Given the description of an element on the screen output the (x, y) to click on. 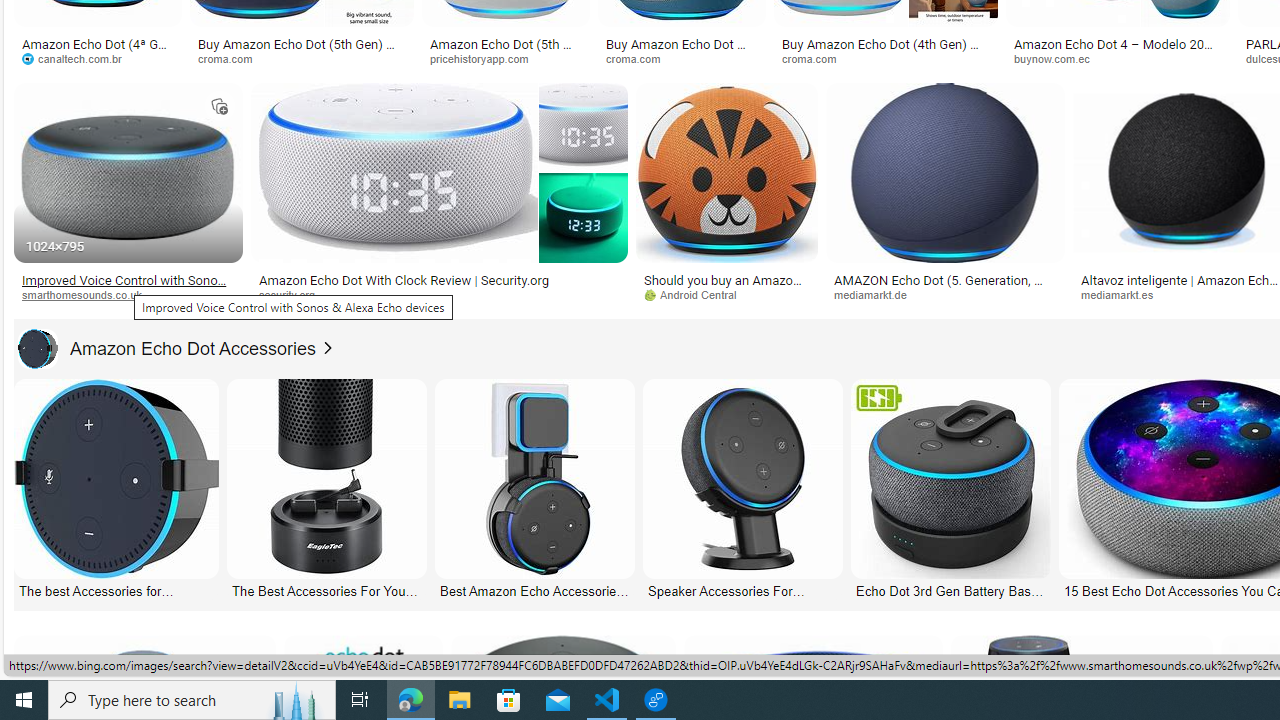
Image result for Amazon Echo Dot PNG (944, 172)
canaltech.com.br (78, 57)
smarthomesounds.co.uk (128, 295)
Amazon Echo Dot With Clock Review | Security.org (438, 279)
